Given the description of an element on the screen output the (x, y) to click on. 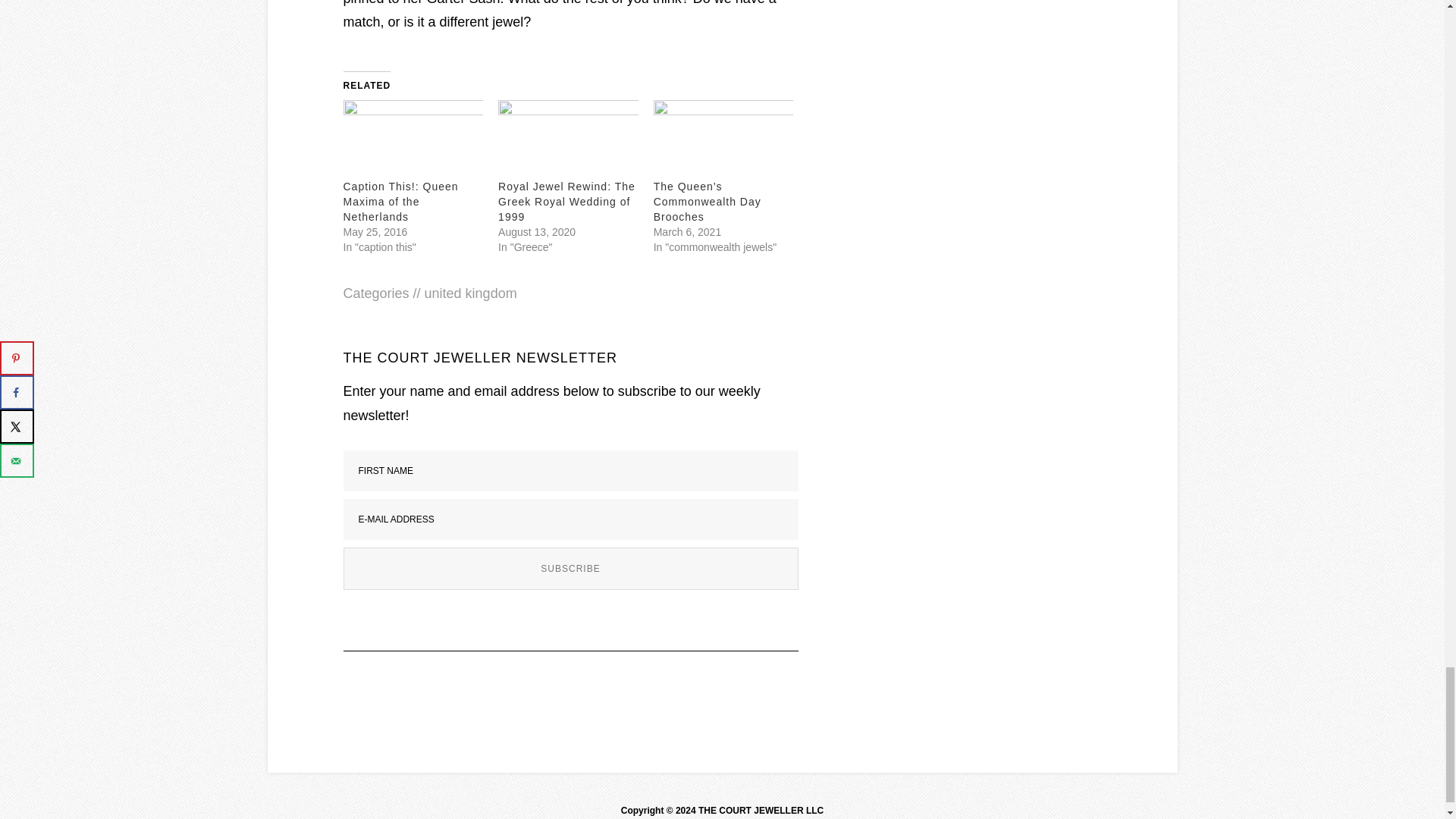
Caption This!: Queen Maxima of the Netherlands (400, 201)
Subscribe (569, 568)
Subscribe (569, 568)
Caption This!: Queen Maxima of the Netherlands (412, 139)
united kingdom (470, 293)
Caption This!: Queen Maxima of the Netherlands (400, 201)
Royal Jewel Rewind: The Greek Royal Wedding of 1999 (565, 201)
Royal Jewel Rewind: The Greek Royal Wedding of 1999 (565, 201)
Royal Jewel Rewind: The Greek Royal Wedding of 1999 (568, 139)
